Given the description of an element on the screen output the (x, y) to click on. 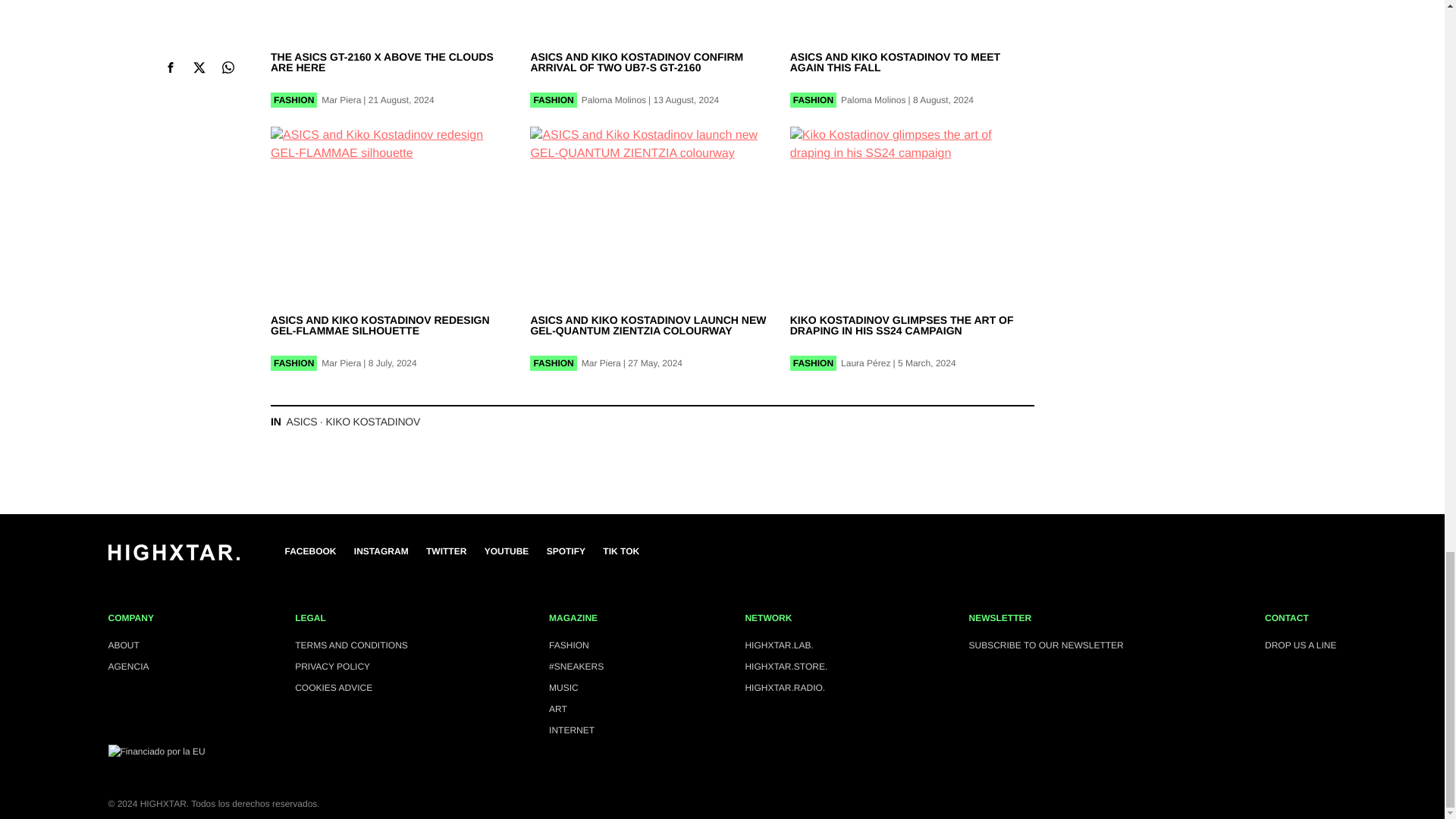
Twitter (446, 550)
Enlace a Inicio (172, 557)
YouTube (507, 550)
Instagram (381, 550)
Spotify (565, 550)
Facebook (310, 550)
